Given the description of an element on the screen output the (x, y) to click on. 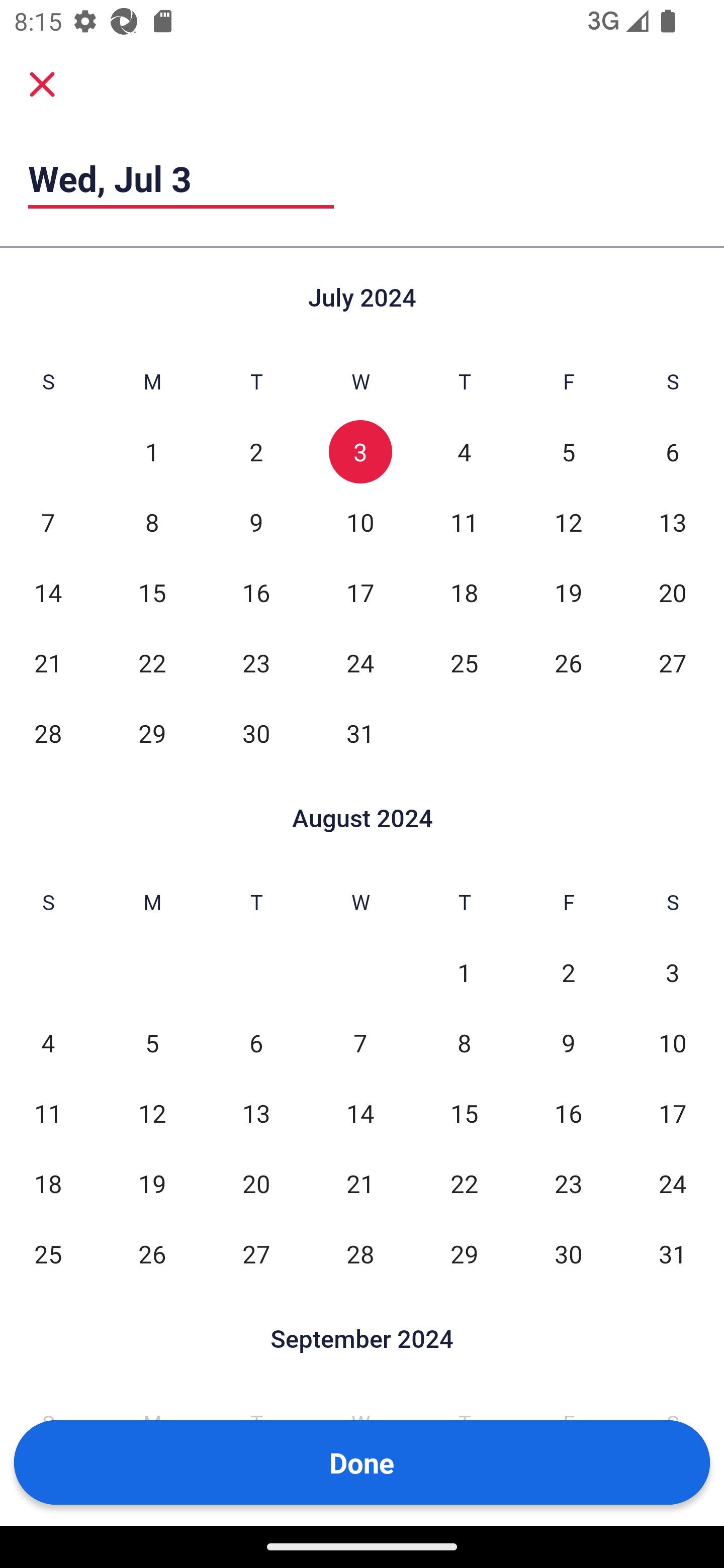
Cancel (41, 83)
Wed, Jul 3 (180, 178)
1 Mon, Jul 1, Not Selected (152, 452)
2 Tue, Jul 2, Not Selected (256, 452)
3 Wed, Jul 3, Selected (360, 452)
4 Thu, Jul 4, Not Selected (464, 452)
5 Fri, Jul 5, Not Selected (568, 452)
6 Sat, Jul 6, Not Selected (672, 452)
7 Sun, Jul 7, Not Selected (48, 521)
8 Mon, Jul 8, Not Selected (152, 521)
9 Tue, Jul 9, Not Selected (256, 521)
10 Wed, Jul 10, Not Selected (360, 521)
11 Thu, Jul 11, Not Selected (464, 521)
12 Fri, Jul 12, Not Selected (568, 521)
13 Sat, Jul 13, Not Selected (672, 521)
14 Sun, Jul 14, Not Selected (48, 591)
15 Mon, Jul 15, Not Selected (152, 591)
16 Tue, Jul 16, Not Selected (256, 591)
17 Wed, Jul 17, Not Selected (360, 591)
18 Thu, Jul 18, Not Selected (464, 591)
19 Fri, Jul 19, Not Selected (568, 591)
20 Sat, Jul 20, Not Selected (672, 591)
21 Sun, Jul 21, Not Selected (48, 662)
22 Mon, Jul 22, Not Selected (152, 662)
23 Tue, Jul 23, Not Selected (256, 662)
24 Wed, Jul 24, Not Selected (360, 662)
25 Thu, Jul 25, Not Selected (464, 662)
26 Fri, Jul 26, Not Selected (568, 662)
27 Sat, Jul 27, Not Selected (672, 662)
28 Sun, Jul 28, Not Selected (48, 732)
29 Mon, Jul 29, Not Selected (152, 732)
30 Tue, Jul 30, Not Selected (256, 732)
31 Wed, Jul 31, Not Selected (360, 732)
1 Thu, Aug 1, Not Selected (464, 972)
2 Fri, Aug 2, Not Selected (568, 972)
3 Sat, Aug 3, Not Selected (672, 972)
4 Sun, Aug 4, Not Selected (48, 1043)
5 Mon, Aug 5, Not Selected (152, 1043)
6 Tue, Aug 6, Not Selected (256, 1043)
7 Wed, Aug 7, Not Selected (360, 1043)
8 Thu, Aug 8, Not Selected (464, 1043)
9 Fri, Aug 9, Not Selected (568, 1043)
10 Sat, Aug 10, Not Selected (672, 1043)
11 Sun, Aug 11, Not Selected (48, 1112)
12 Mon, Aug 12, Not Selected (152, 1112)
13 Tue, Aug 13, Not Selected (256, 1112)
14 Wed, Aug 14, Not Selected (360, 1112)
15 Thu, Aug 15, Not Selected (464, 1112)
16 Fri, Aug 16, Not Selected (568, 1112)
17 Sat, Aug 17, Not Selected (672, 1112)
18 Sun, Aug 18, Not Selected (48, 1182)
19 Mon, Aug 19, Not Selected (152, 1182)
20 Tue, Aug 20, Not Selected (256, 1182)
21 Wed, Aug 21, Not Selected (360, 1182)
22 Thu, Aug 22, Not Selected (464, 1182)
23 Fri, Aug 23, Not Selected (568, 1182)
24 Sat, Aug 24, Not Selected (672, 1182)
25 Sun, Aug 25, Not Selected (48, 1253)
26 Mon, Aug 26, Not Selected (152, 1253)
27 Tue, Aug 27, Not Selected (256, 1253)
28 Wed, Aug 28, Not Selected (360, 1253)
29 Thu, Aug 29, Not Selected (464, 1253)
30 Fri, Aug 30, Not Selected (568, 1253)
31 Sat, Aug 31, Not Selected (672, 1253)
Done Button Done (361, 1462)
